Given the description of an element on the screen output the (x, y) to click on. 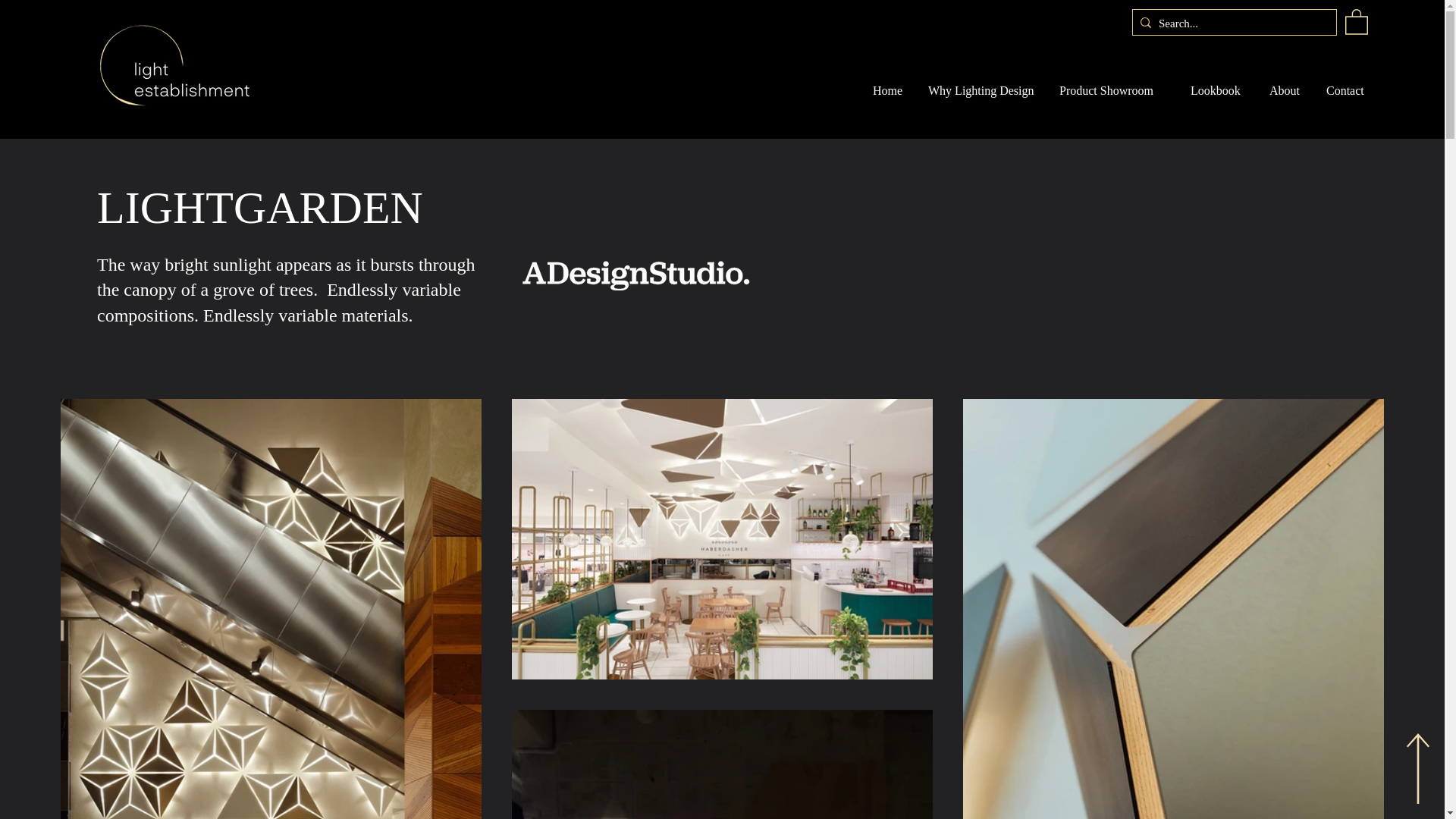
About (1285, 90)
Contact (1349, 90)
Lookbook (1218, 90)
Why Lighting Design (982, 90)
Home (889, 90)
Product Showroom (1113, 90)
